Given the description of an element on the screen output the (x, y) to click on. 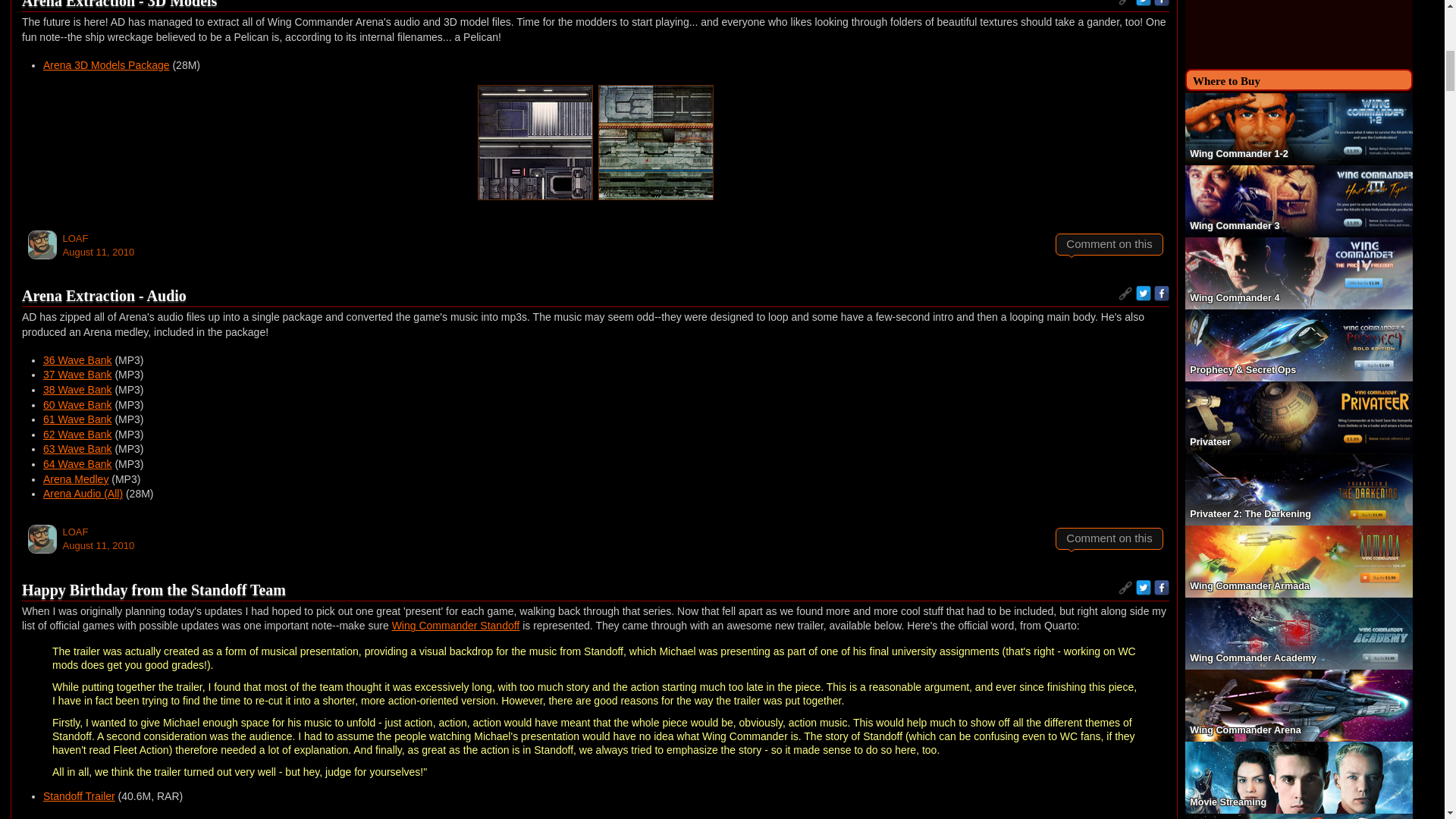
Share on Facebook (1161, 587)
Share on Facebook (1161, 293)
Share on Twitter (1143, 293)
Share on Twitter (1143, 587)
Share on Twitter (1143, 2)
Share on Facebook (1161, 2)
